Given the description of an element on the screen output the (x, y) to click on. 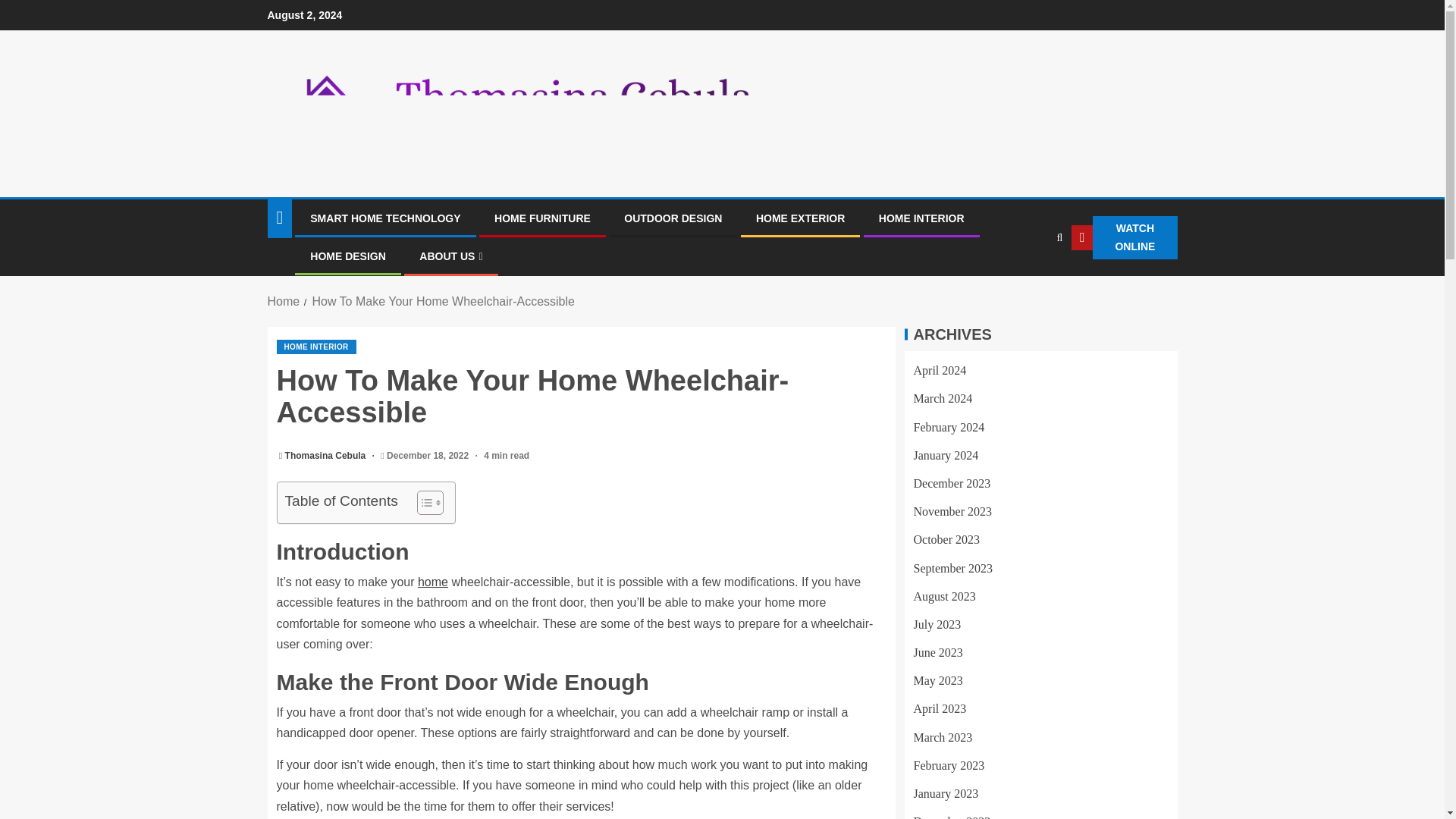
HOME INTERIOR (315, 346)
ABOUT US (450, 256)
Thomasina Cebula (326, 455)
HOME DESIGN (347, 256)
Search (1029, 284)
OUTDOOR DESIGN (673, 218)
HOME FURNITURE (543, 218)
WATCH ONLINE (1123, 238)
HOME EXTERIOR (799, 218)
SMART HOME TECHNOLOGY (385, 218)
Home (282, 300)
home (432, 581)
How To Make Your Home Wheelchair-Accessible (443, 300)
HOME INTERIOR (921, 218)
